Given the description of an element on the screen output the (x, y) to click on. 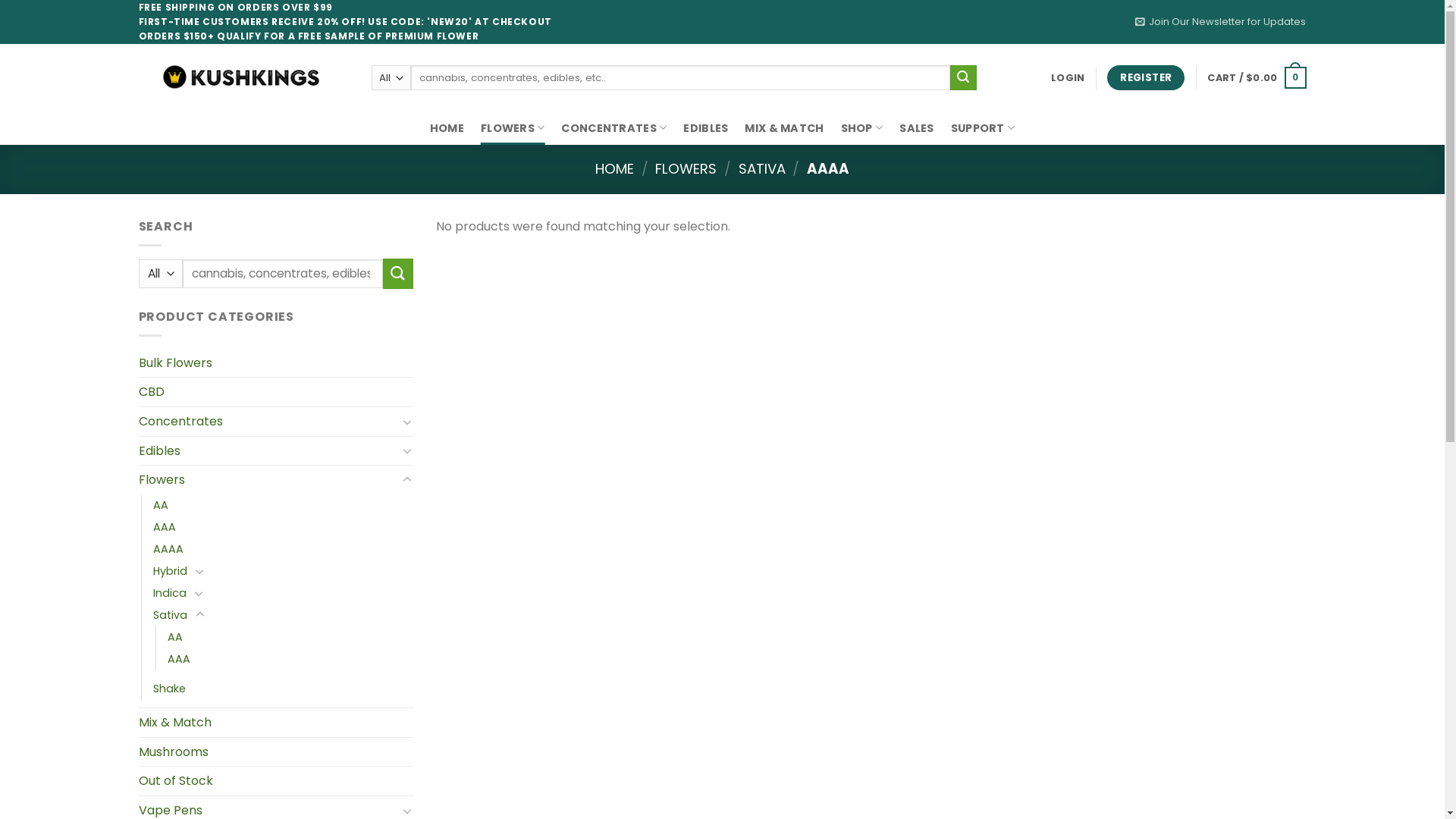
Out of Stock Element type: text (275, 780)
SATIVA Element type: text (761, 168)
SUPPORT Element type: text (982, 128)
Search Element type: text (962, 78)
SHOP Element type: text (861, 128)
Sativa Element type: text (170, 615)
HOME Element type: text (446, 128)
Mix & Match Element type: text (275, 722)
MIX & MATCH Element type: text (783, 128)
AAAA Element type: text (168, 549)
Concentrates Element type: text (267, 421)
Edibles Element type: text (267, 450)
CART / $0.00
0 Element type: text (1256, 77)
AA Element type: text (174, 637)
Indica Element type: text (169, 593)
AAA Element type: text (164, 527)
AA Element type: text (160, 505)
Shake Element type: text (169, 688)
EDIBLES Element type: text (705, 128)
FLOWERS Element type: text (685, 168)
REGISTER Element type: text (1145, 78)
Mushrooms Element type: text (275, 751)
Search Element type: text (397, 273)
FLOWERS Element type: text (512, 128)
CBD Element type: text (275, 391)
CONCENTRATES Element type: text (613, 128)
AAA Element type: text (177, 659)
Flowers Element type: text (267, 479)
LOGIN Element type: text (1067, 77)
Join Our Newsletter for Updates Element type: text (1220, 21)
HOME Element type: text (614, 168)
SALES Element type: text (916, 128)
Hybrid Element type: text (170, 571)
Bulk Flowers Element type: text (275, 362)
